Given the description of an element on the screen output the (x, y) to click on. 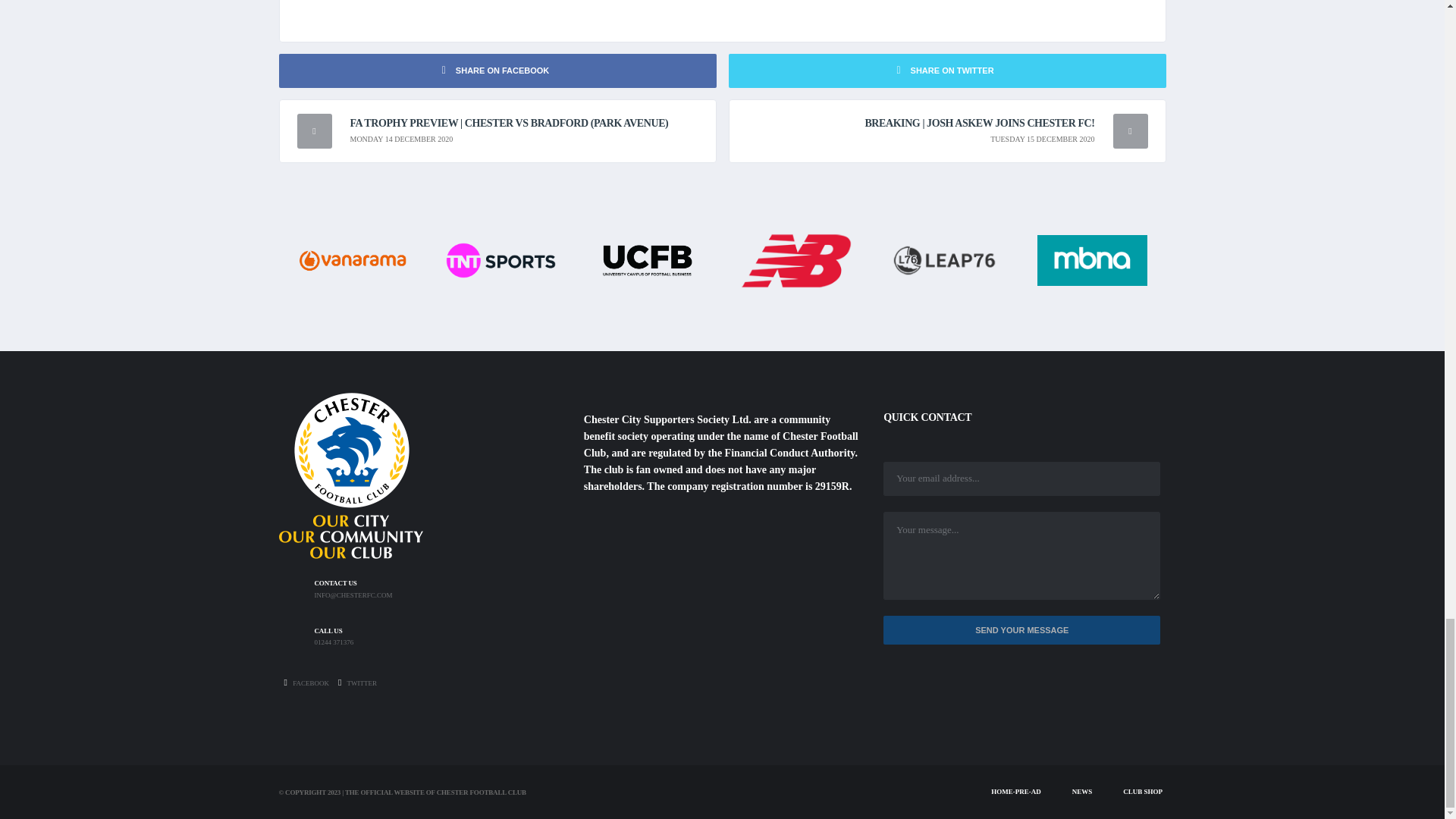
UCFB Logo (647, 259)
Send Your Message (1021, 630)
